Given the description of an element on the screen output the (x, y) to click on. 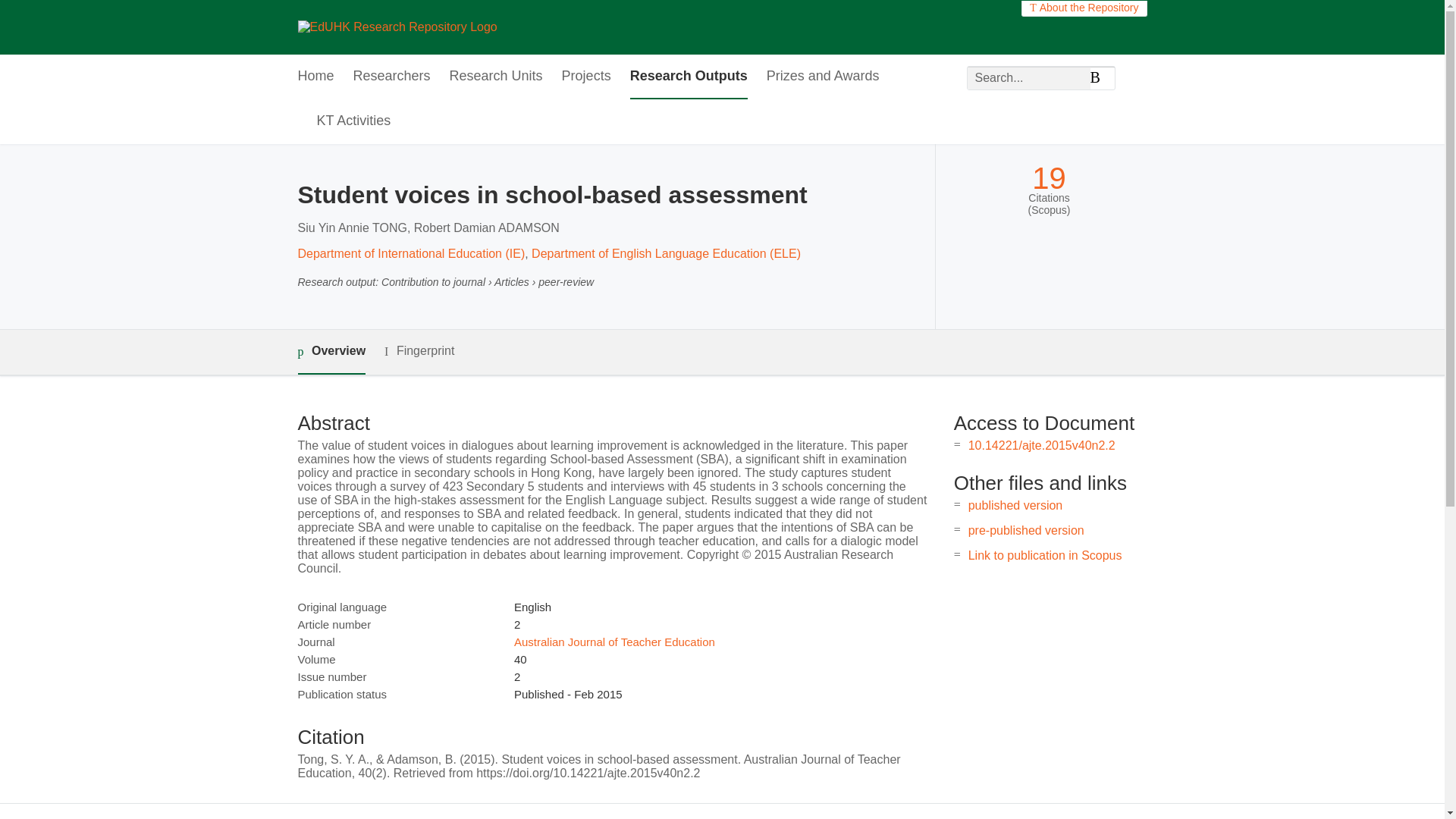
Link to publication in Scopus (1045, 554)
Research Outputs (689, 76)
Research Units (496, 76)
Fingerprint (419, 351)
19 (1048, 178)
EdUHK Research Repository Home (396, 27)
pre-published version (1026, 530)
Researchers (391, 76)
Prizes and Awards (823, 76)
